Given the description of an element on the screen output the (x, y) to click on. 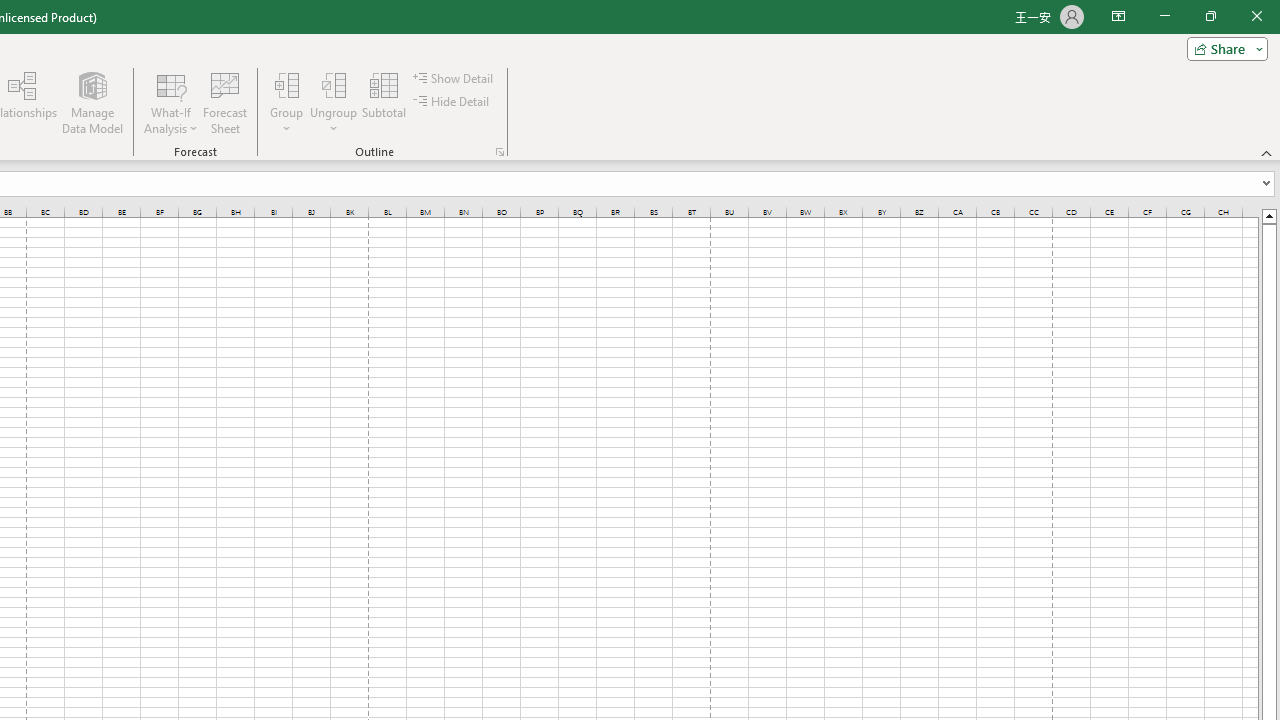
Manage Data Model (92, 102)
Hide Detail (452, 101)
